Given the description of an element on the screen output the (x, y) to click on. 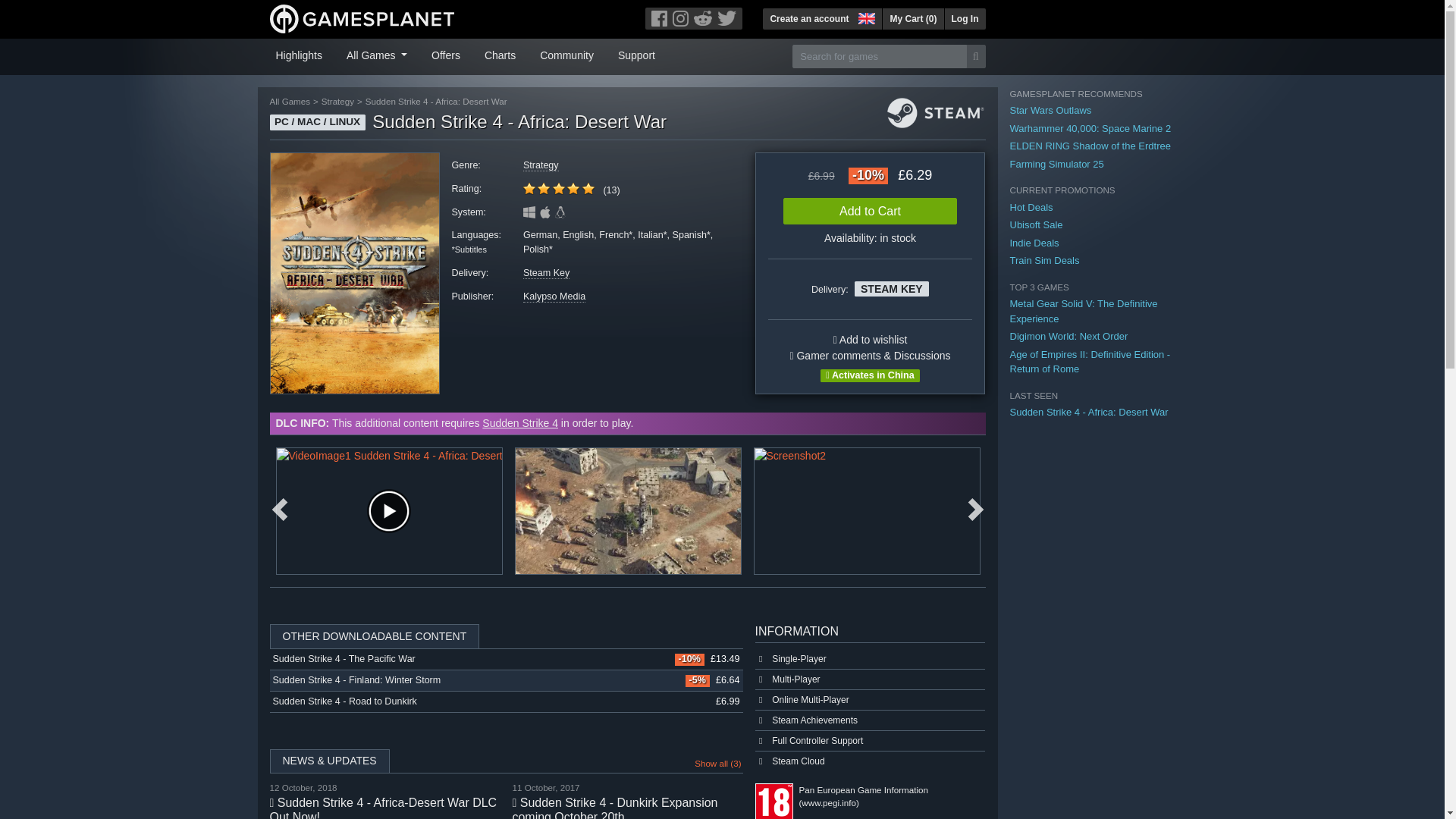
OTHER DOWNLOADABLE CONTENT (505, 636)
good (573, 188)
good (588, 188)
good (558, 188)
good (543, 188)
All Games (376, 53)
Create an account (809, 18)
good (558, 188)
good (528, 188)
Log In (964, 18)
